Given the description of an element on the screen output the (x, y) to click on. 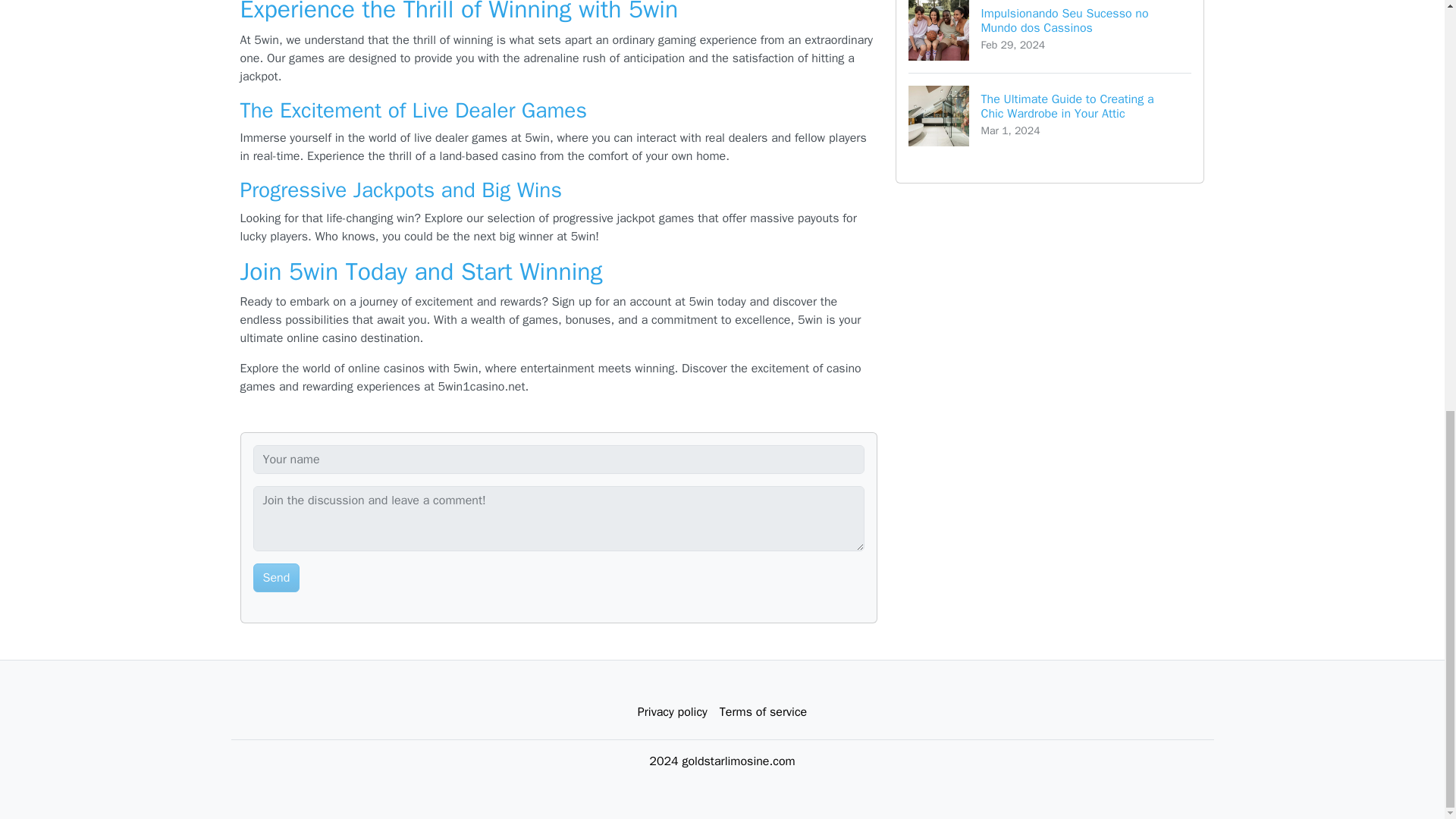
Terms of service (762, 711)
Privacy policy (672, 711)
Send (276, 577)
Send (276, 577)
